Given the description of an element on the screen output the (x, y) to click on. 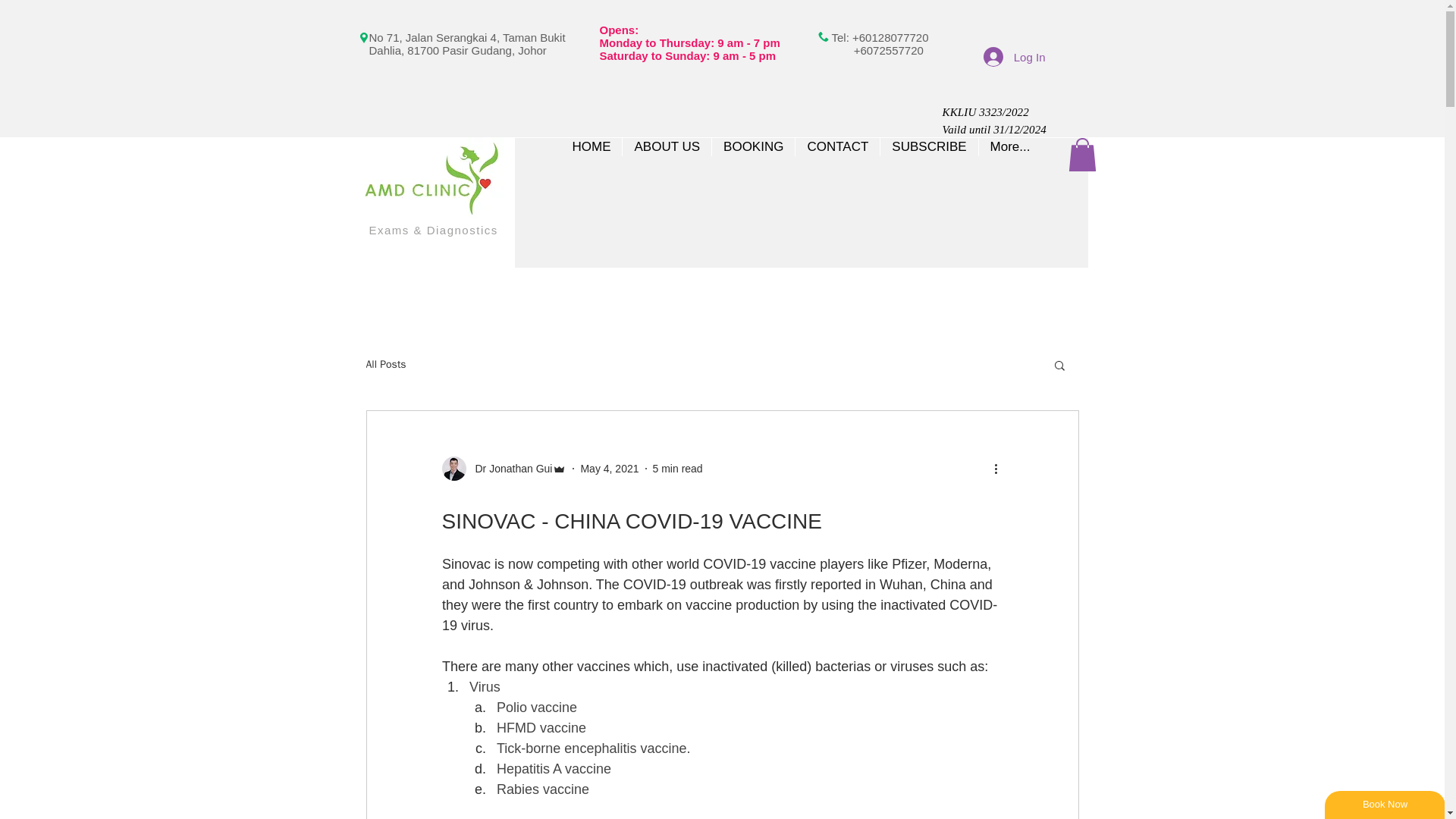
Log In (1014, 56)
May 4, 2021 (609, 468)
5 min read (677, 468)
All Posts (385, 364)
Dr Jonathan Gui (508, 468)
Dr Jonathan Gui (503, 468)
